Given the description of an element on the screen output the (x, y) to click on. 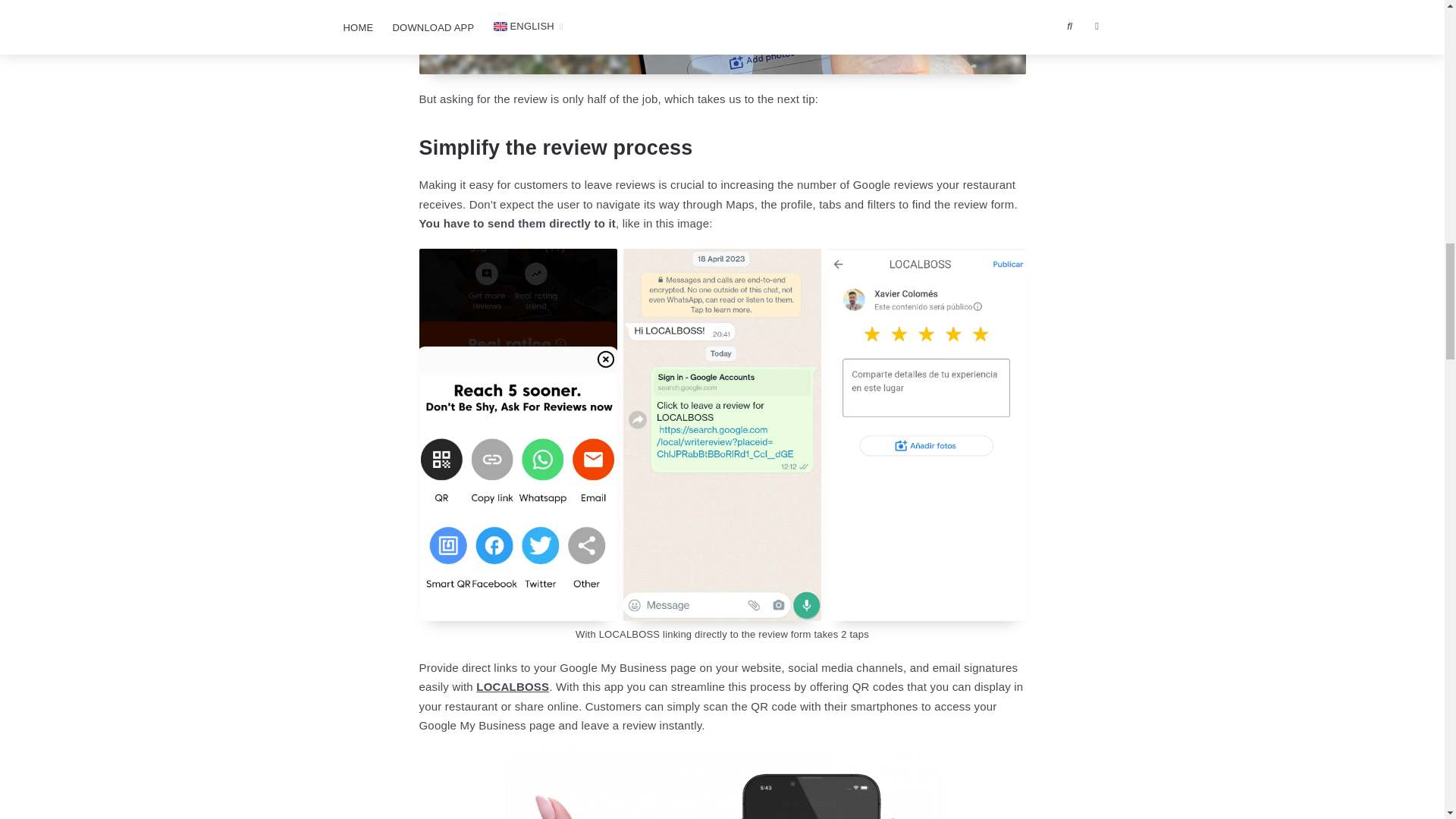
LOCALBOSS (512, 686)
